Given the description of an element on the screen output the (x, y) to click on. 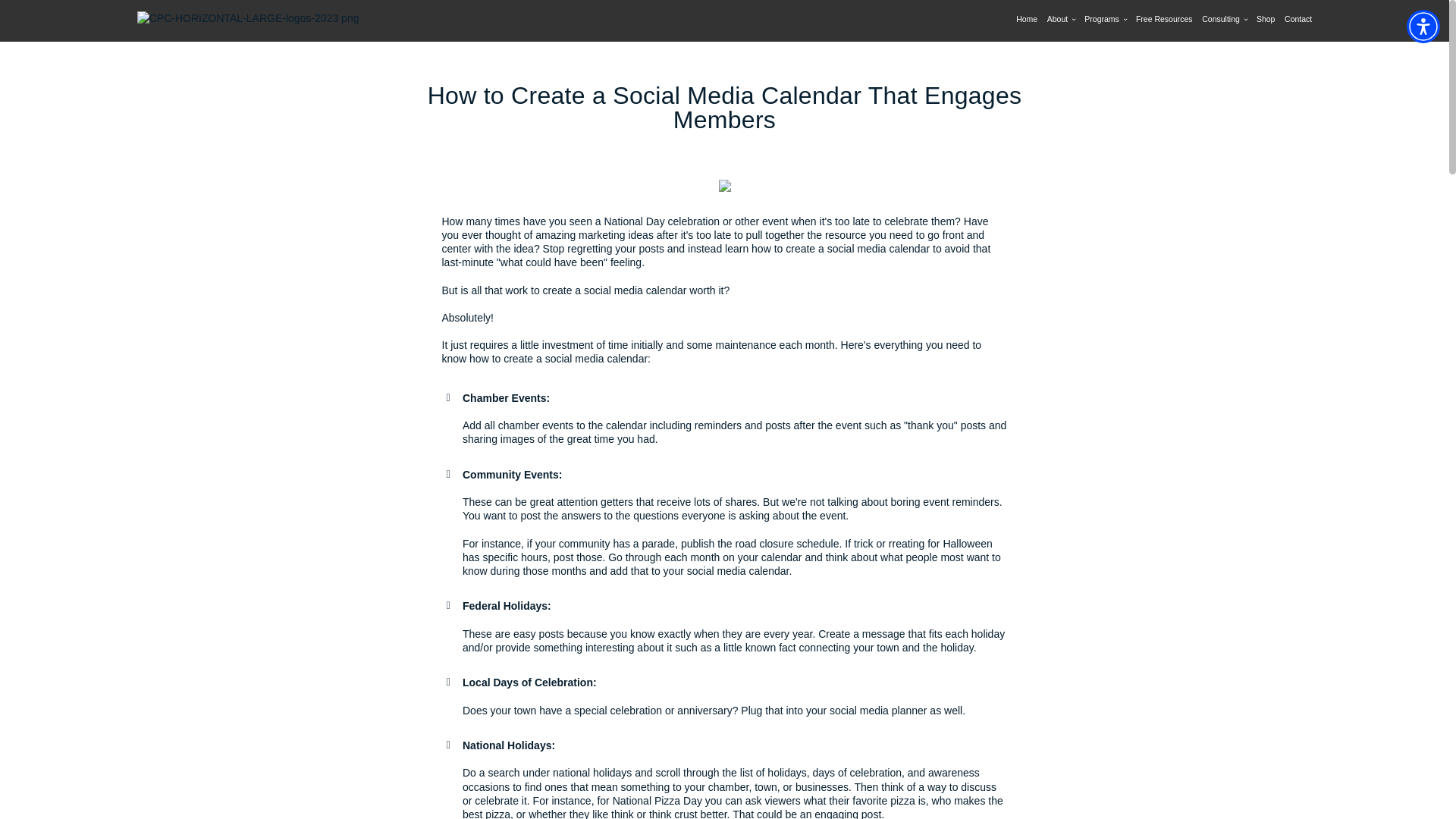
Free Resources (1163, 19)
Home (1026, 19)
Accessibility Menu (1422, 26)
Programs (1104, 19)
Consulting (1224, 19)
How to Create a Social Media Calendar That Engages Members (724, 107)
Shop (1265, 19)
Contact (1297, 19)
About (1060, 19)
How to Create a Social Media Calendar That Engages Members (724, 107)
